Given the description of an element on the screen output the (x, y) to click on. 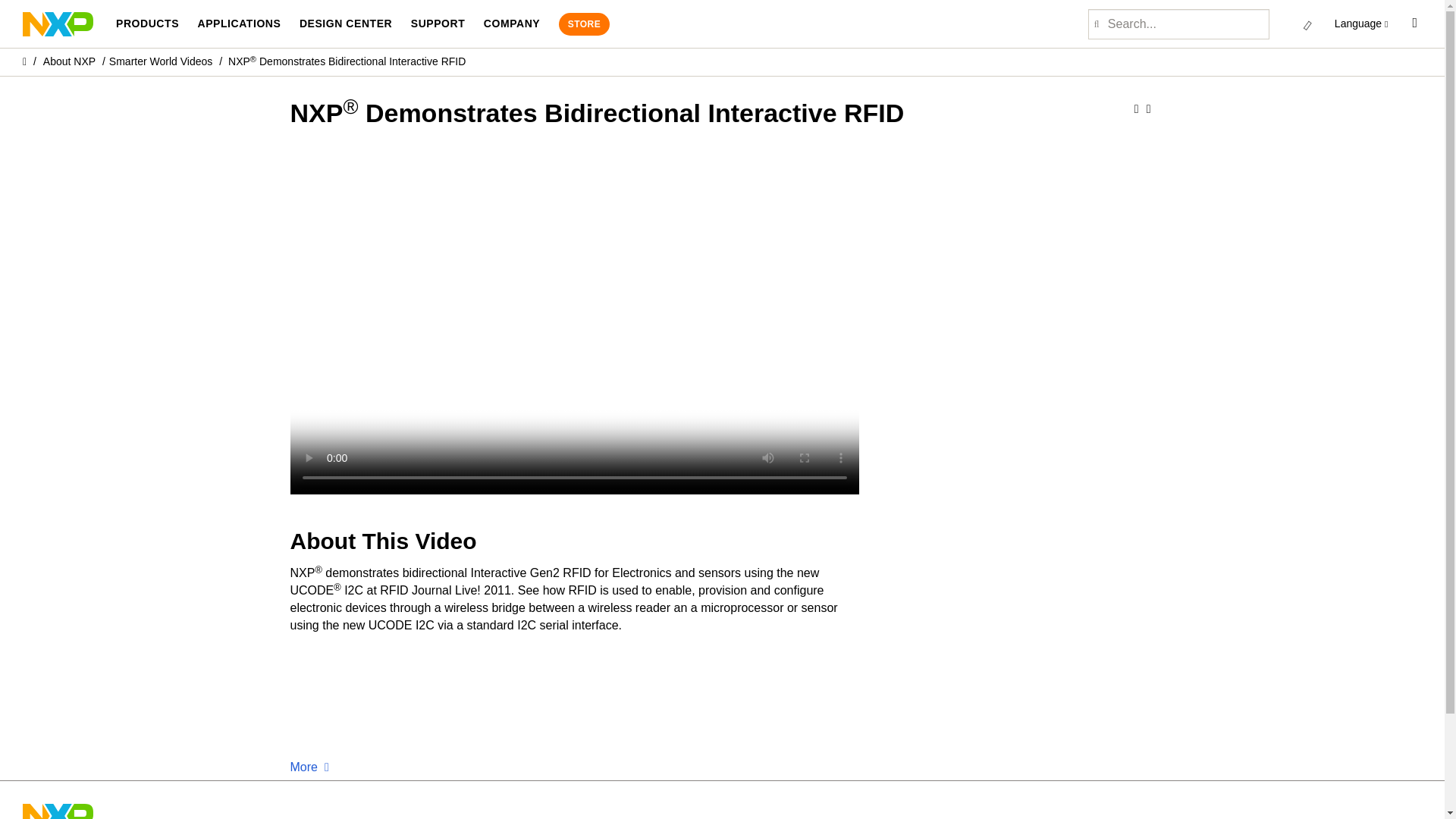
PRODUCTS (147, 23)
About NXP (69, 61)
APPLICATIONS (238, 23)
DESIGN CENTER (345, 23)
SUPPORT (437, 23)
NXP Semiconductor (58, 23)
Language  (1361, 23)
Smarter World Videos (160, 61)
STORE (584, 24)
COMPANY (511, 23)
